Given the description of an element on the screen output the (x, y) to click on. 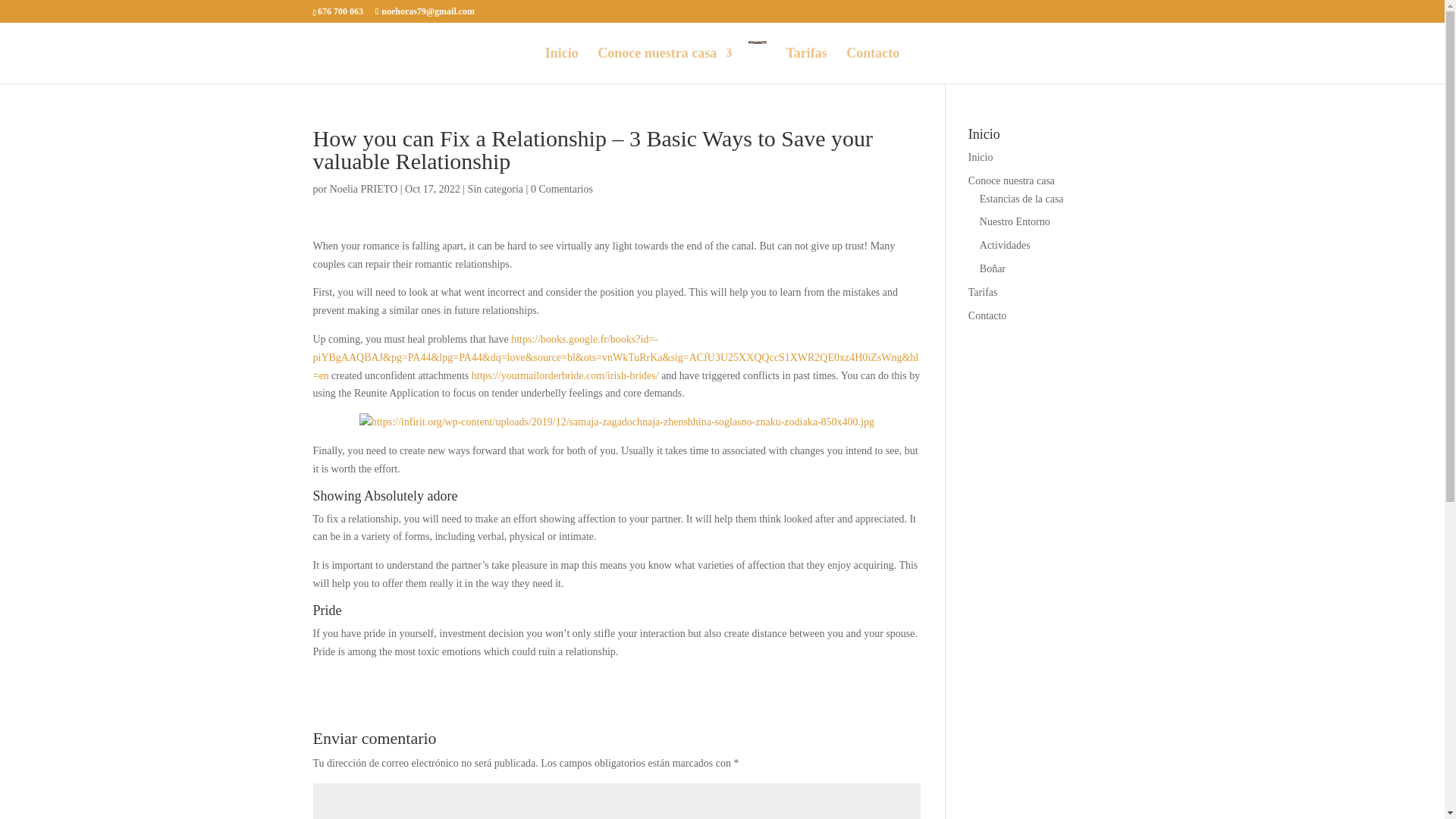
Tarifas (982, 292)
Contacto (987, 315)
Actividades (1004, 244)
Contacto (872, 65)
Tarifas (806, 65)
Mensajes de Noelia PRIETO (363, 188)
Nuestro Entorno (1014, 221)
Inicio (561, 65)
Inicio (980, 156)
Conoce nuestra casa (664, 65)
Conoce nuestra casa (1011, 180)
0 Comentarios (561, 188)
Noelia PRIETO (363, 188)
Estancias de la casa (1021, 198)
